Given the description of an element on the screen output the (x, y) to click on. 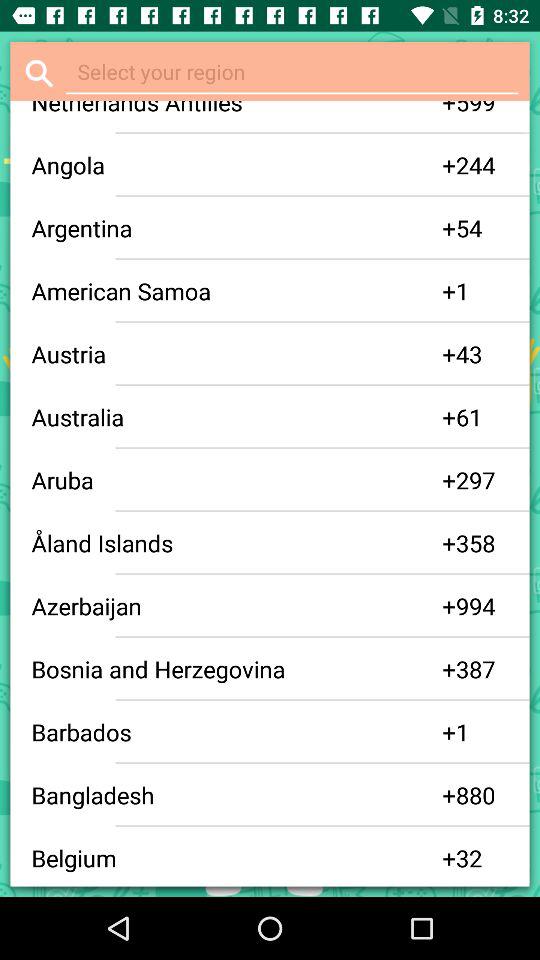
launch item above 54 item (322, 195)
